Given the description of an element on the screen output the (x, y) to click on. 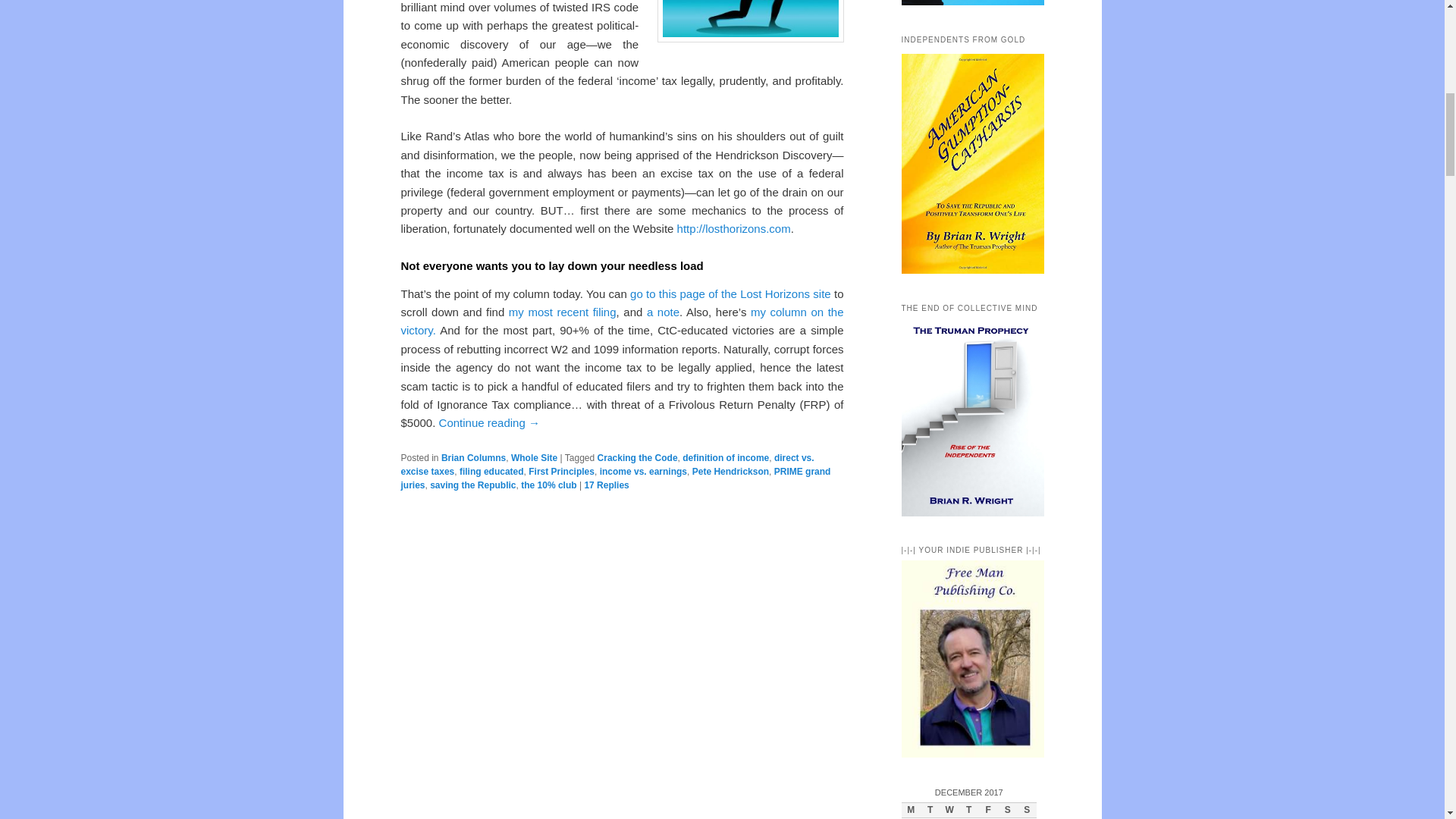
Tuesday (930, 810)
Wednesday (949, 810)
Sunday (1026, 810)
a note (662, 311)
Saturday (1007, 810)
Thursday (968, 810)
Friday (987, 810)
Monday (910, 810)
my most recent filing (561, 311)
go to this page of the Lost Horizons site (730, 293)
my column on the victory. (621, 320)
